Given the description of an element on the screen output the (x, y) to click on. 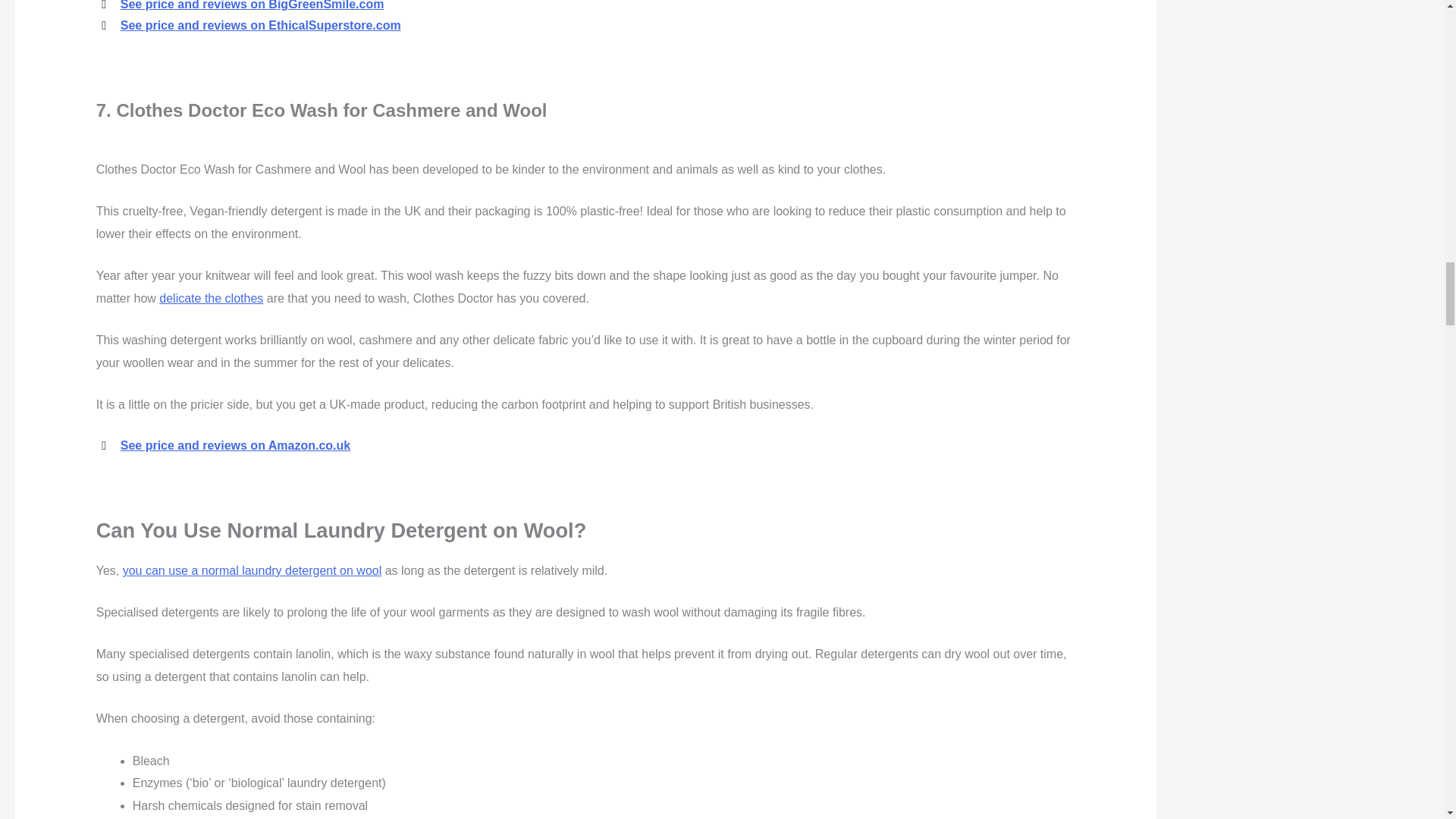
See price and reviews on BigGreenSmile.com (252, 5)
delicate the clothes (210, 297)
See price and reviews on EthicalSuperstore.com (260, 24)
